Given the description of an element on the screen output the (x, y) to click on. 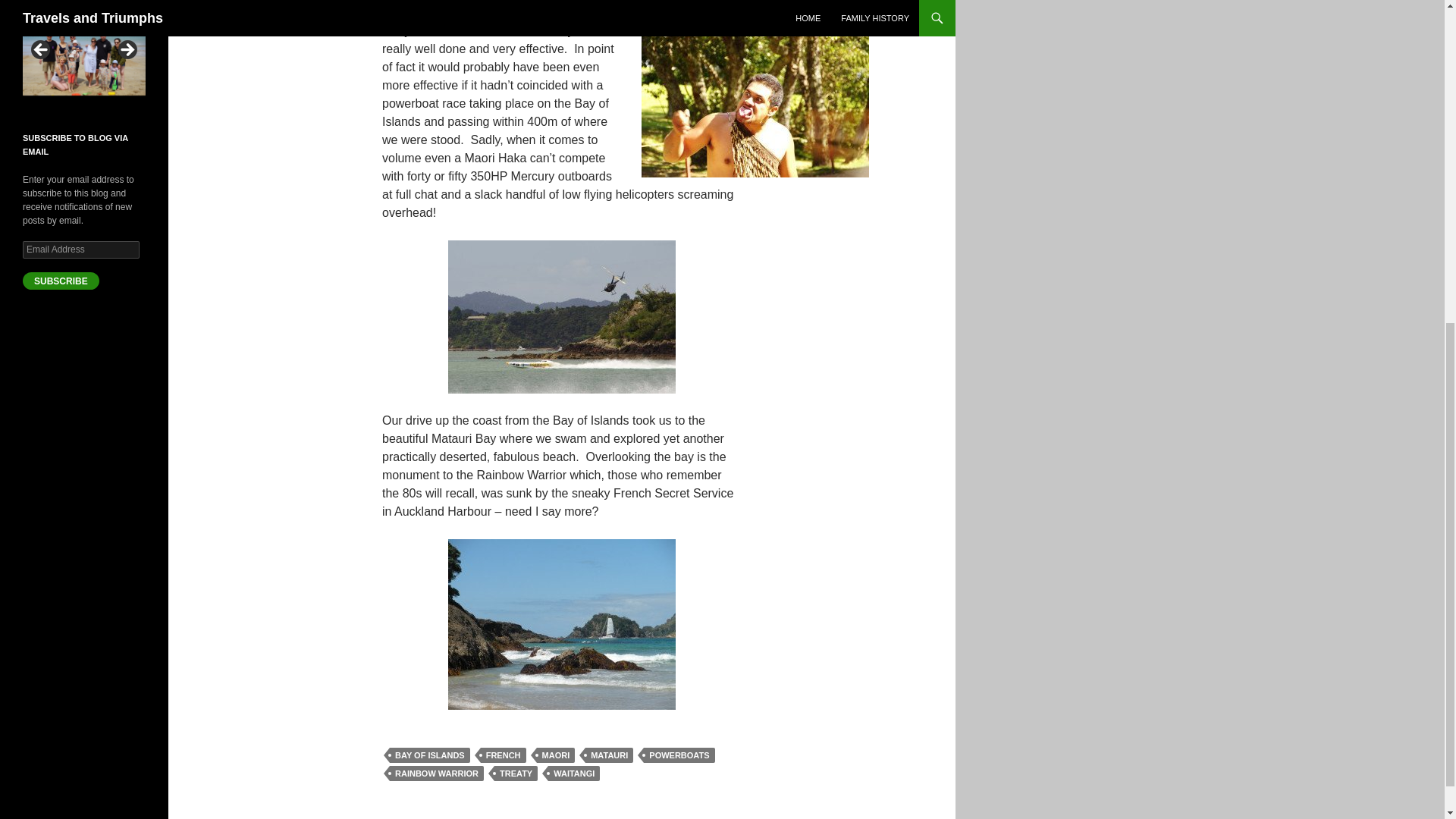
POWERBOATS (678, 754)
SUBSCRIBE (61, 280)
RAINBOW WARRIOR (436, 773)
MAORI (556, 754)
TREATY (516, 773)
FRENCH (502, 754)
BAY OF ISLANDS (430, 754)
WAITANGI (573, 773)
MATAURI (609, 754)
